Given the description of an element on the screen output the (x, y) to click on. 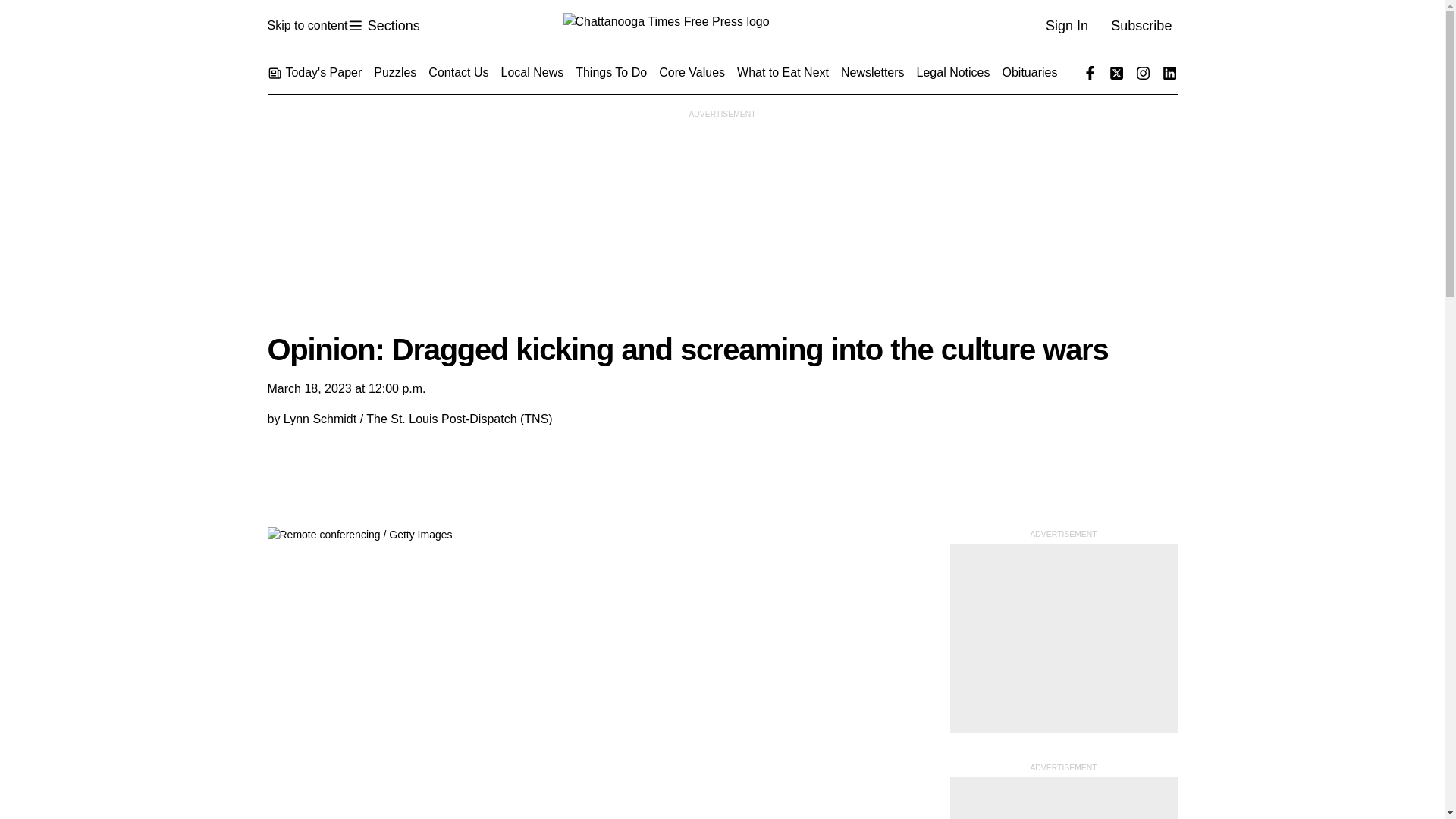
Times Free Press (721, 25)
Skip to content (306, 25)
